Given the description of an element on the screen output the (x, y) to click on. 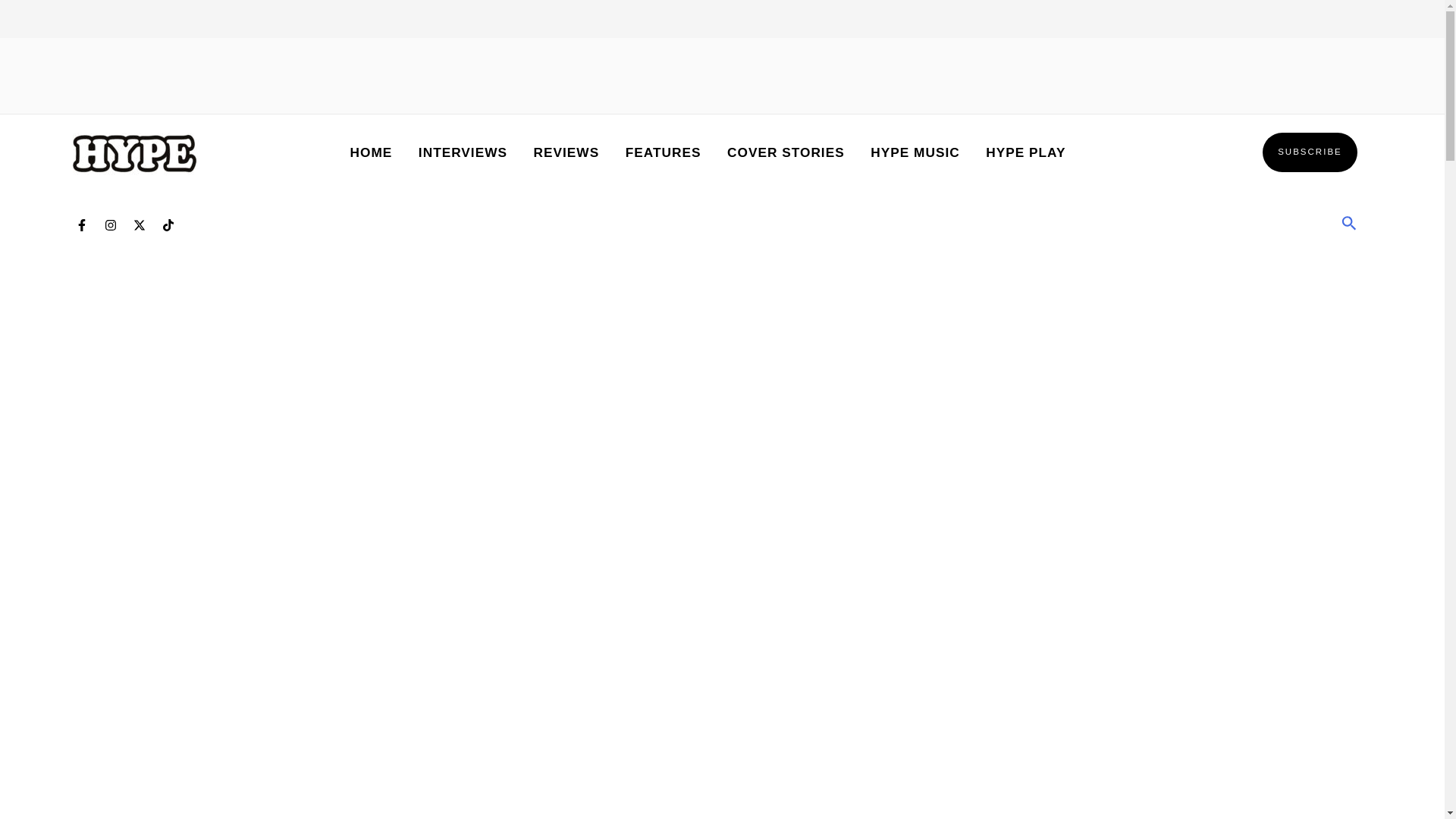
SUBSCRIBE (1309, 151)
COVER STORIES (785, 152)
FEATURES (662, 152)
View all posts by ninja (369, 816)
HYPE PLAY (1025, 152)
REVIEWS (565, 152)
INTERVIEWS (463, 152)
News (244, 816)
HYPE MUSIC (914, 152)
ninja (369, 816)
